Given the description of an element on the screen output the (x, y) to click on. 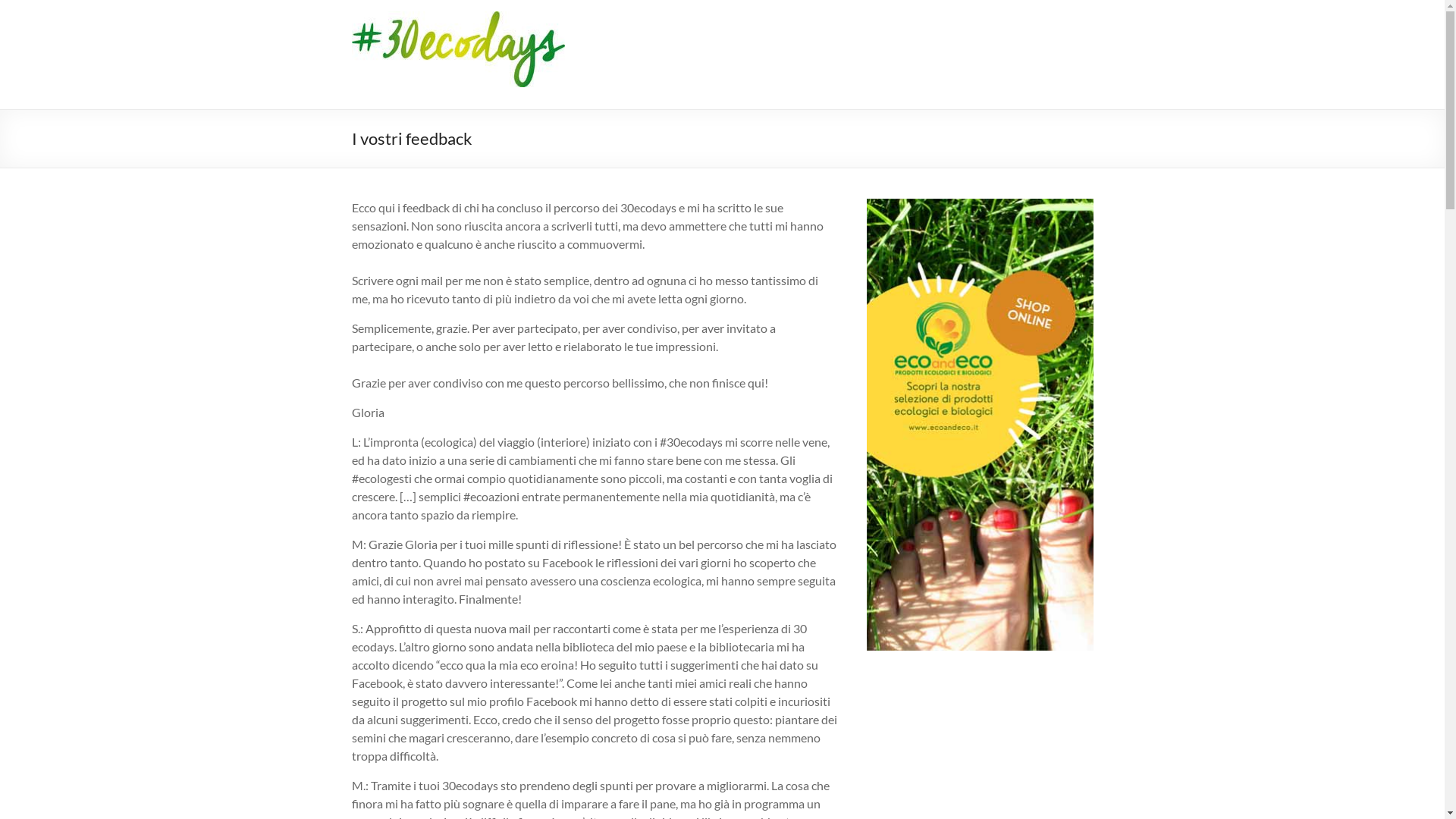
30ecodays Element type: text (414, 31)
